Given the description of an element on the screen output the (x, y) to click on. 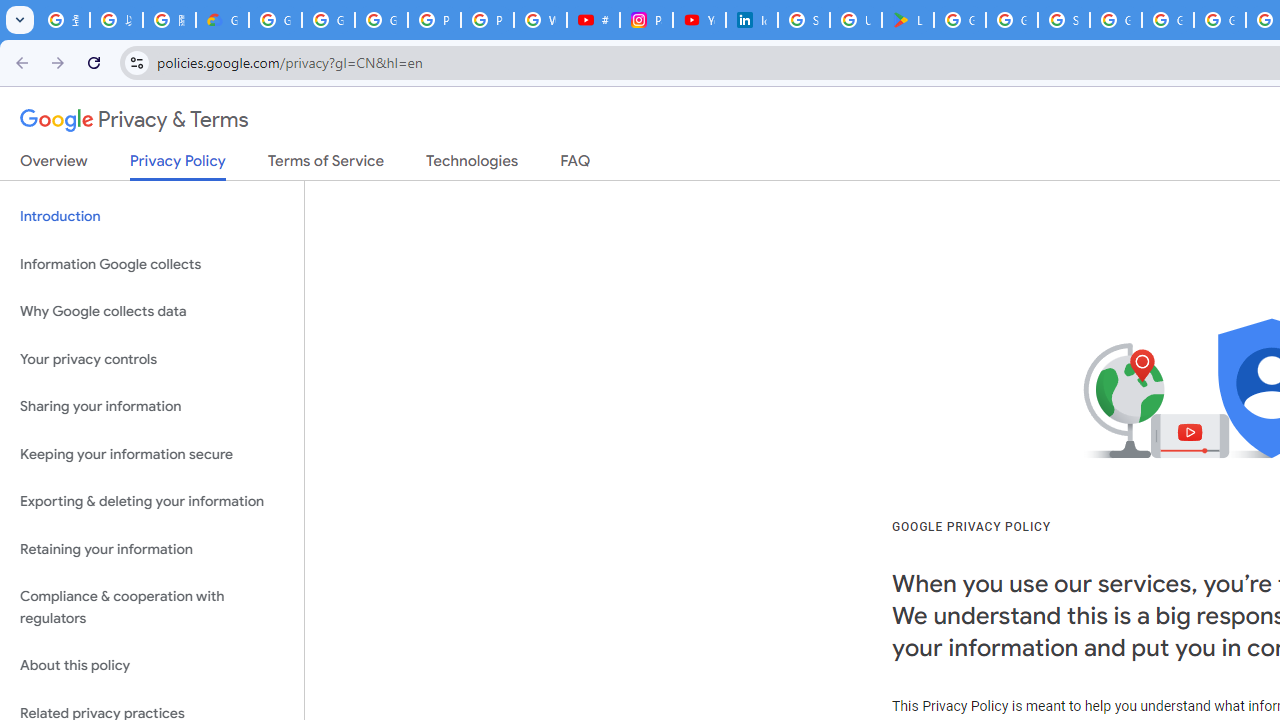
Information Google collects (152, 263)
Google Workspace - Specific Terms (1011, 20)
Compliance & cooperation with regulators (152, 607)
About this policy (152, 666)
Introduction (152, 216)
